Given the description of an element on the screen output the (x, y) to click on. 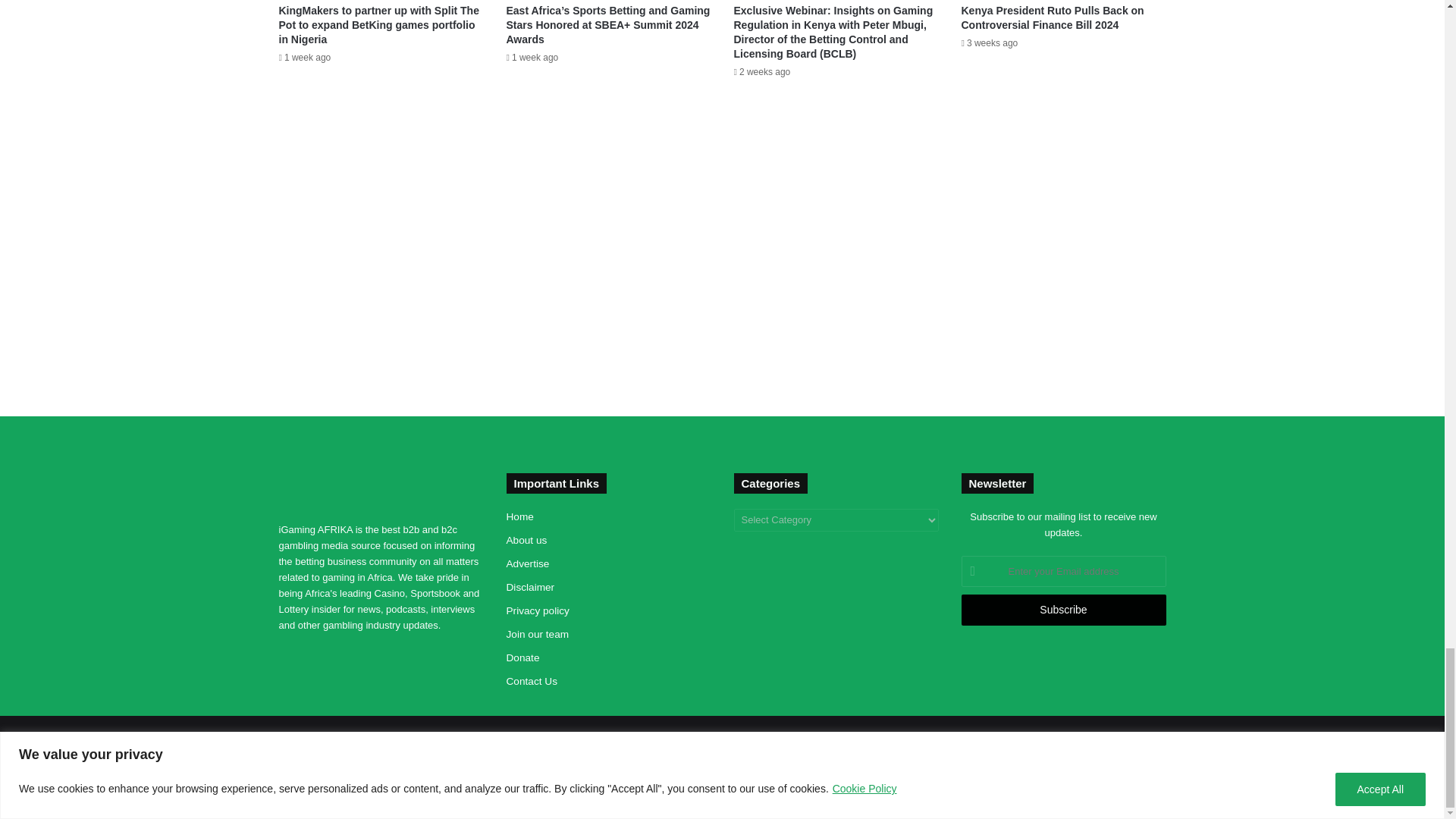
Subscribe (1063, 609)
